Given the description of an element on the screen output the (x, y) to click on. 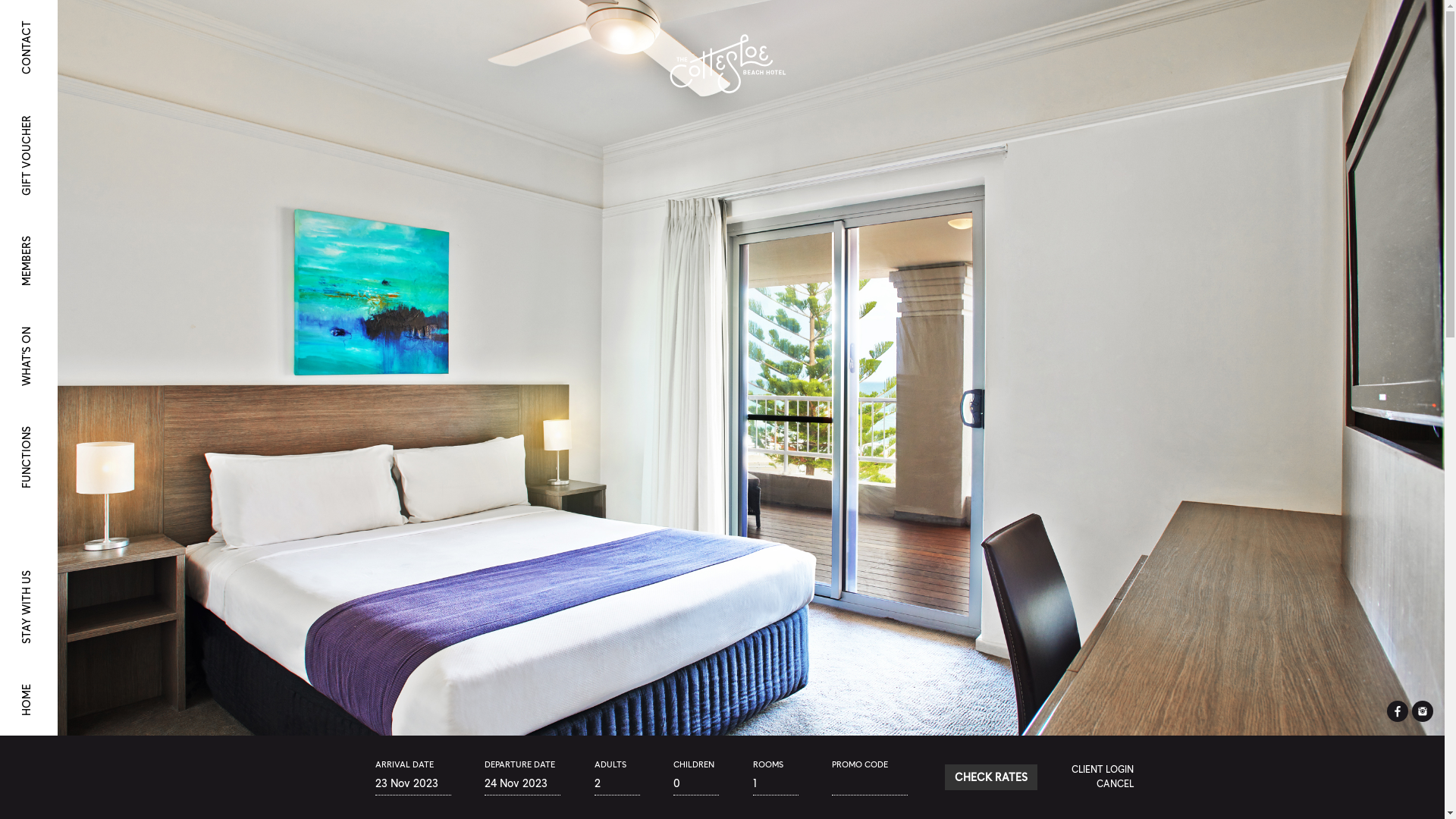
CANCEL Element type: text (1118, 783)
CLIENT LOGIN Element type: text (1106, 769)
CHECK RATES Element type: text (990, 777)
Find us on Instagram Element type: hover (1422, 718)
Follow us on Facebook Element type: hover (1397, 718)
